Given the description of an element on the screen output the (x, y) to click on. 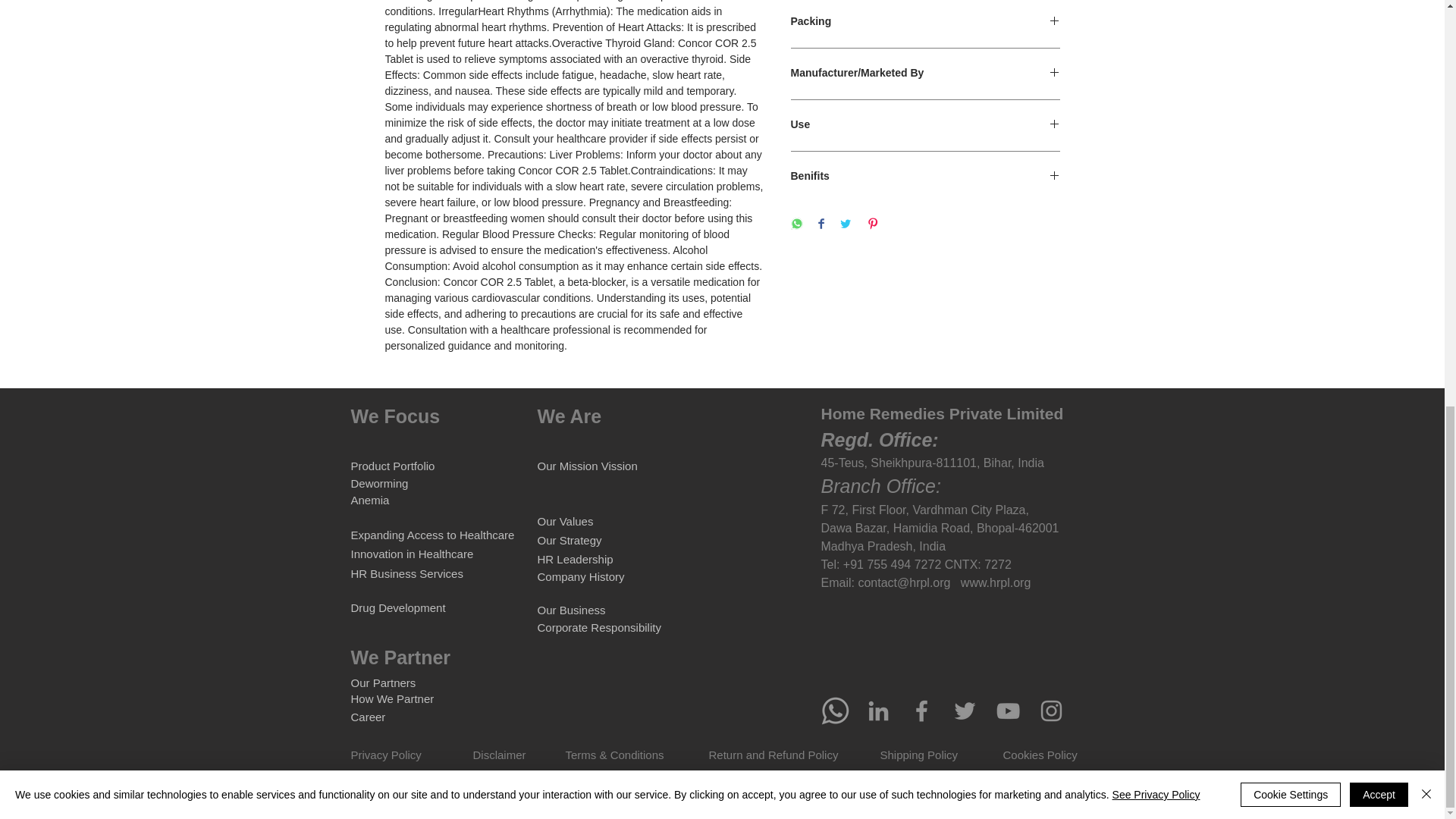
Packing (924, 22)
Use (924, 124)
Deworming (378, 482)
Product Portfolio (391, 465)
Benifits (924, 176)
Anemia (369, 499)
We Focus (394, 415)
